Given the description of an element on the screen output the (x, y) to click on. 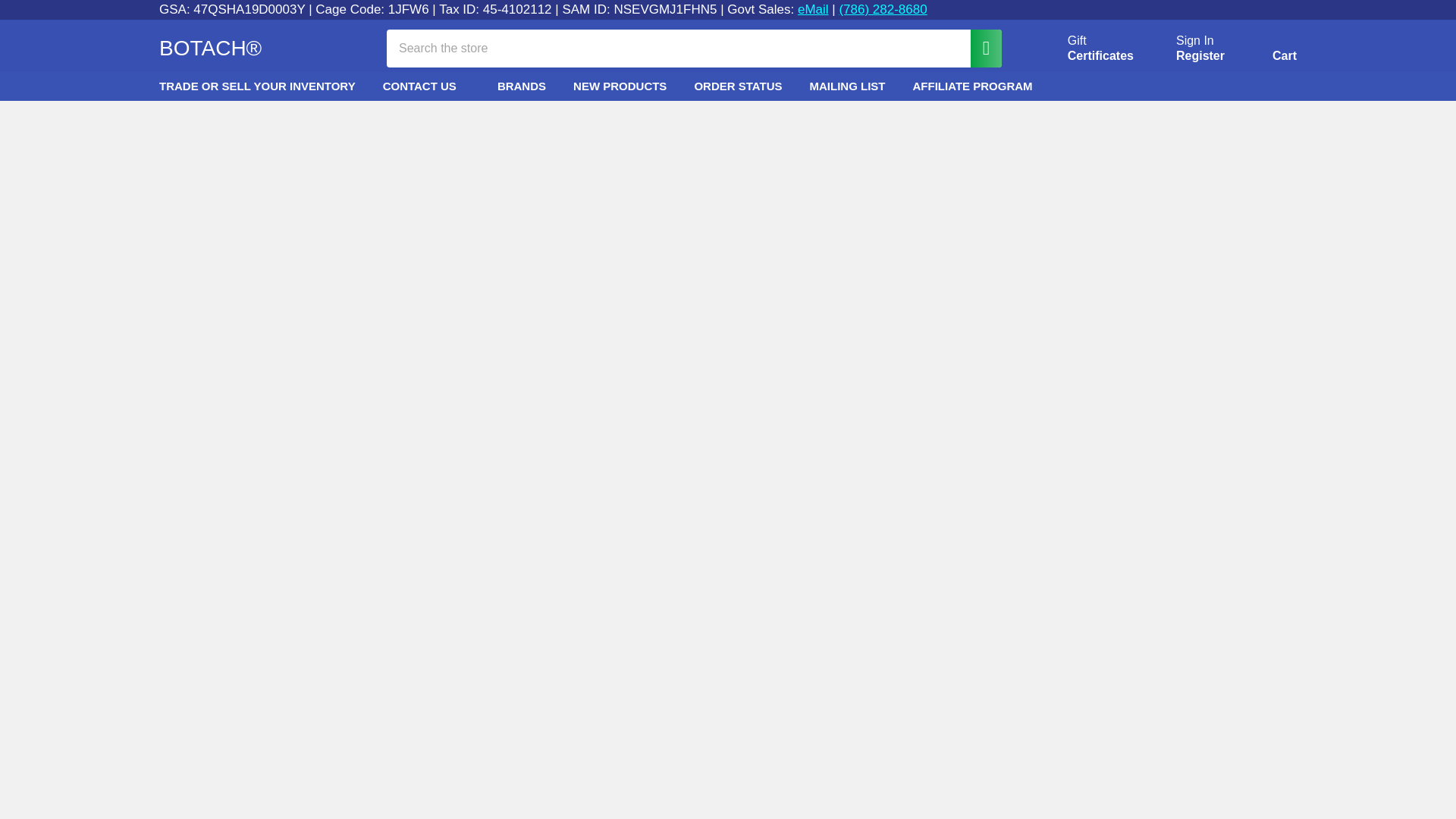
Search (1083, 48)
eMail (978, 47)
Search (812, 9)
Cart (978, 47)
Register (1266, 51)
Cart (1200, 55)
Sign In (1266, 51)
Gift Certificates (1195, 40)
